Given the description of an element on the screen output the (x, y) to click on. 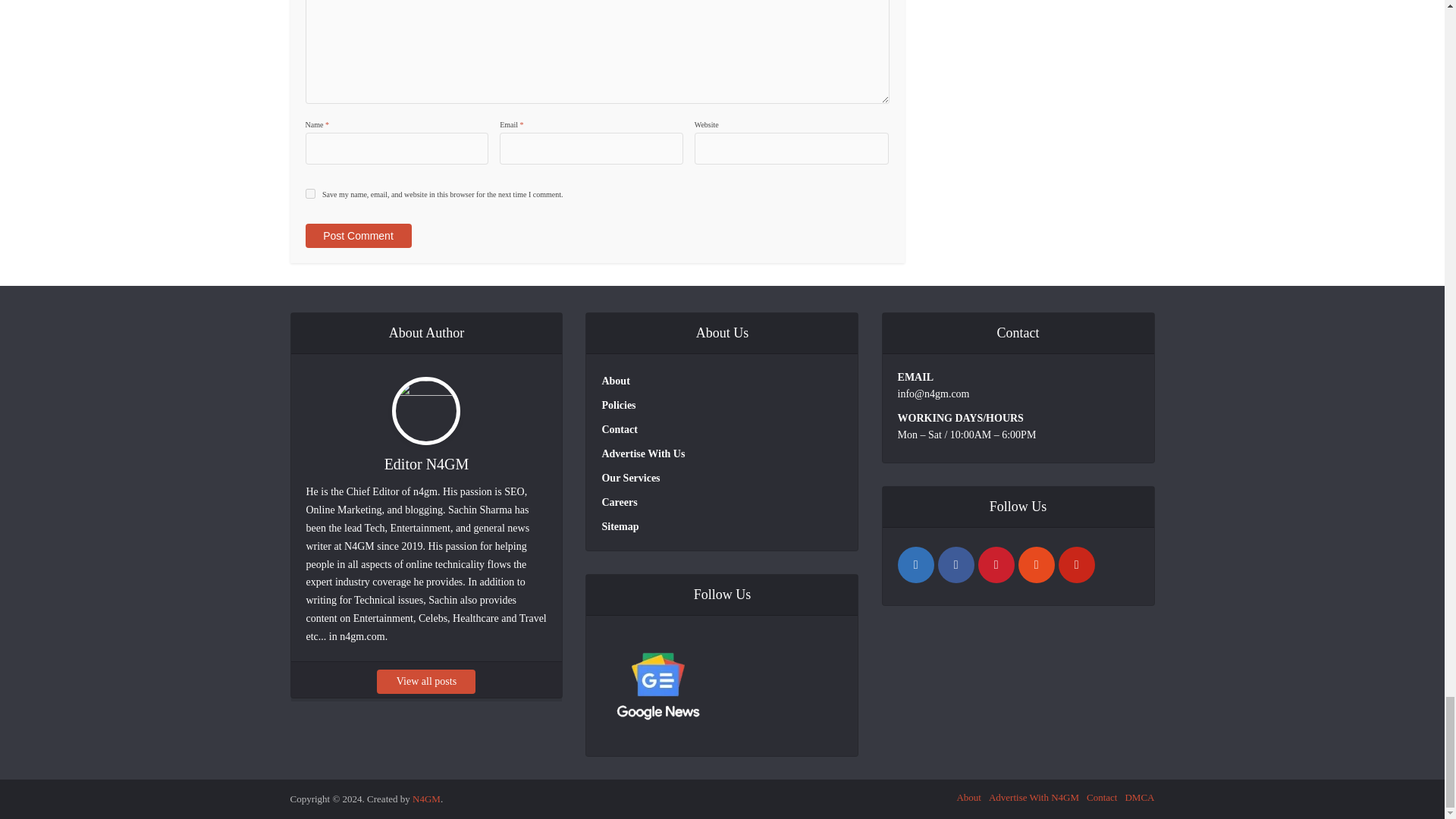
yes (309, 194)
Post Comment (357, 235)
